Given the description of an element on the screen output the (x, y) to click on. 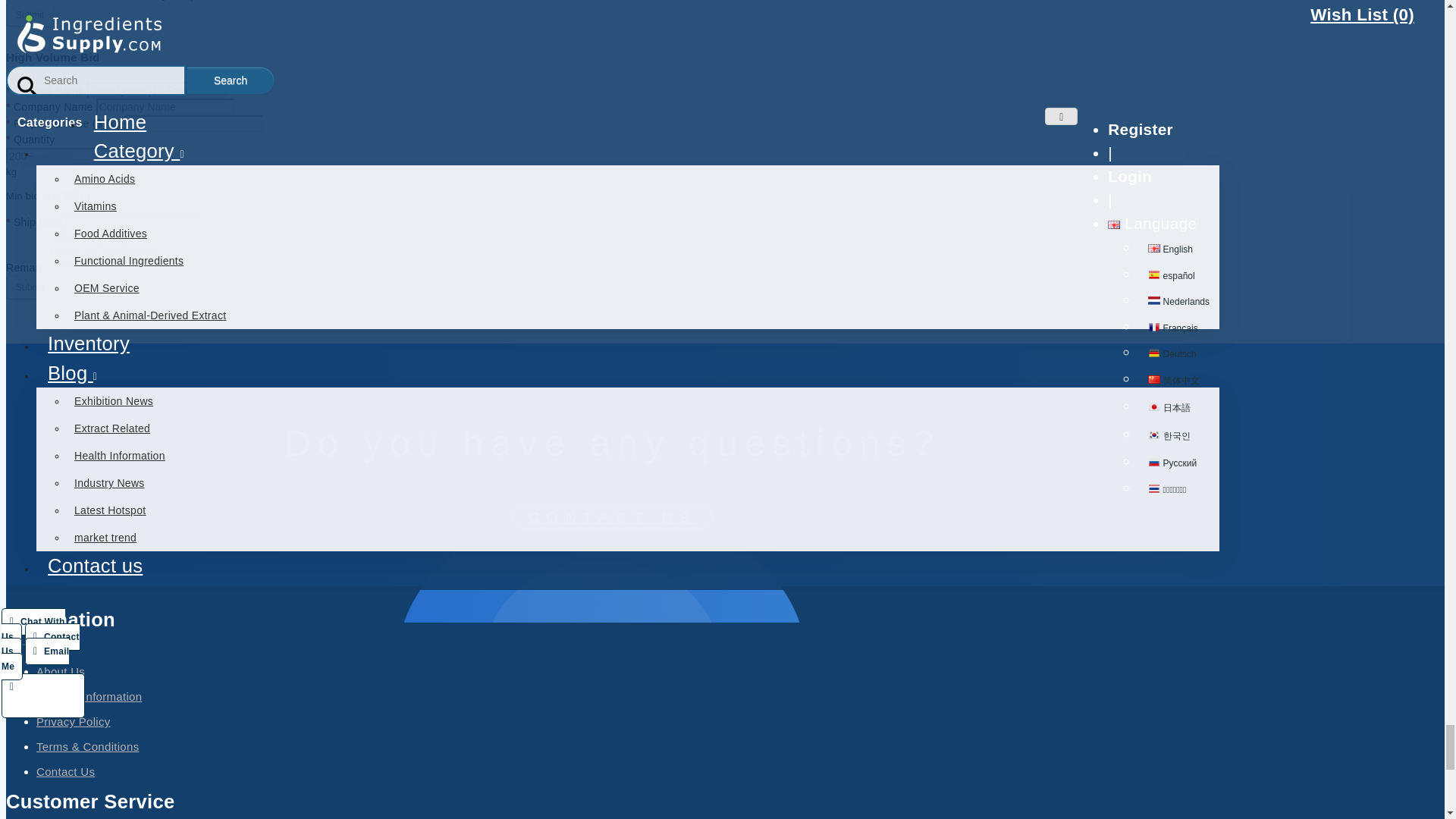
Coenzyme Q10 Powder CAS No 303-98-0  (156, 89)
